Given the description of an element on the screen output the (x, y) to click on. 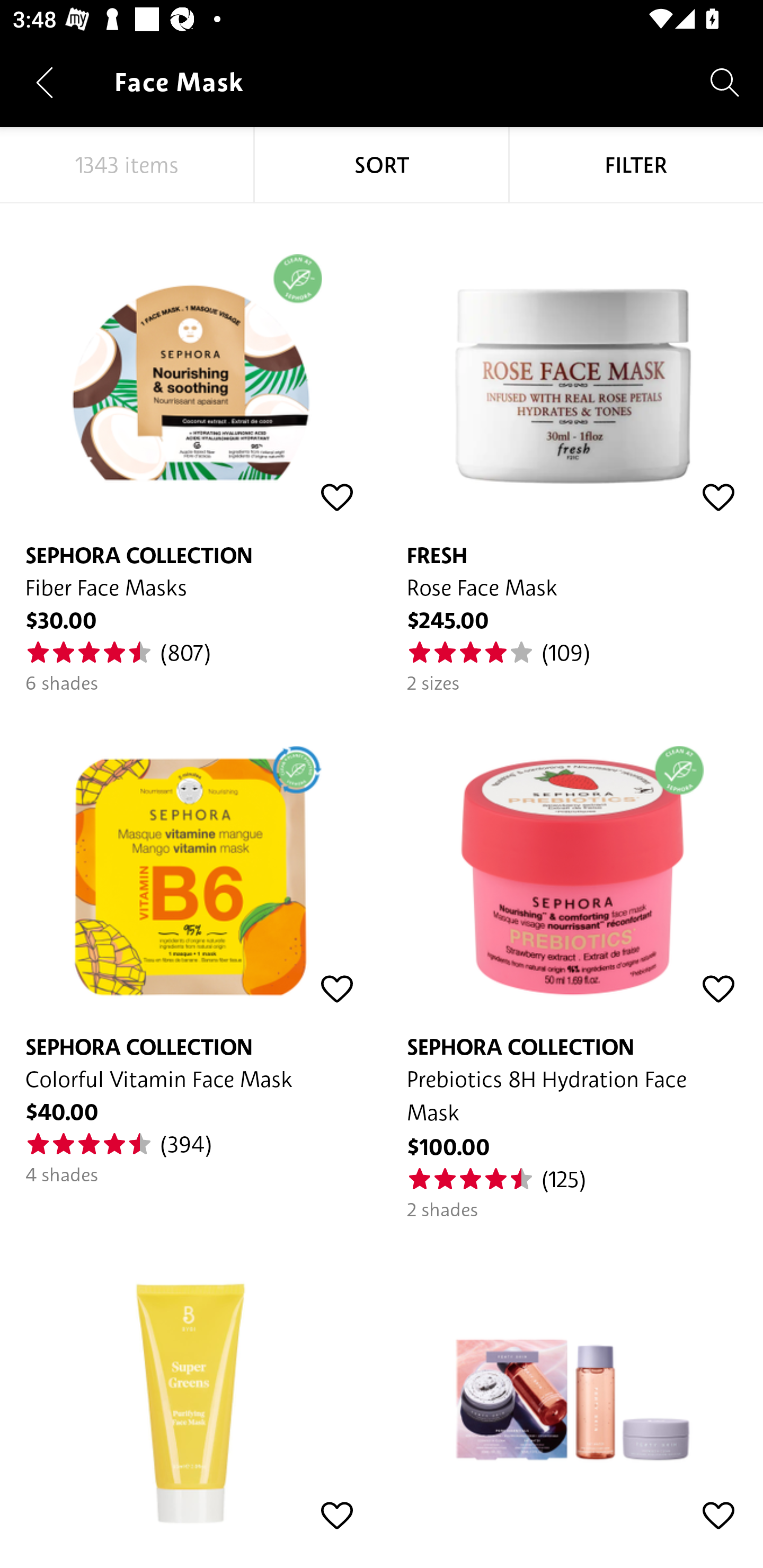
Navigate up (44, 82)
Search (724, 81)
SORT (381, 165)
FILTER (636, 165)
FRESH Rose Face Mask $245.00 (109) 2 sizes (571, 448)
BYBI BEAUTY (190, 1381)
FENTY SKIN (571, 1381)
